Given the description of an element on the screen output the (x, y) to click on. 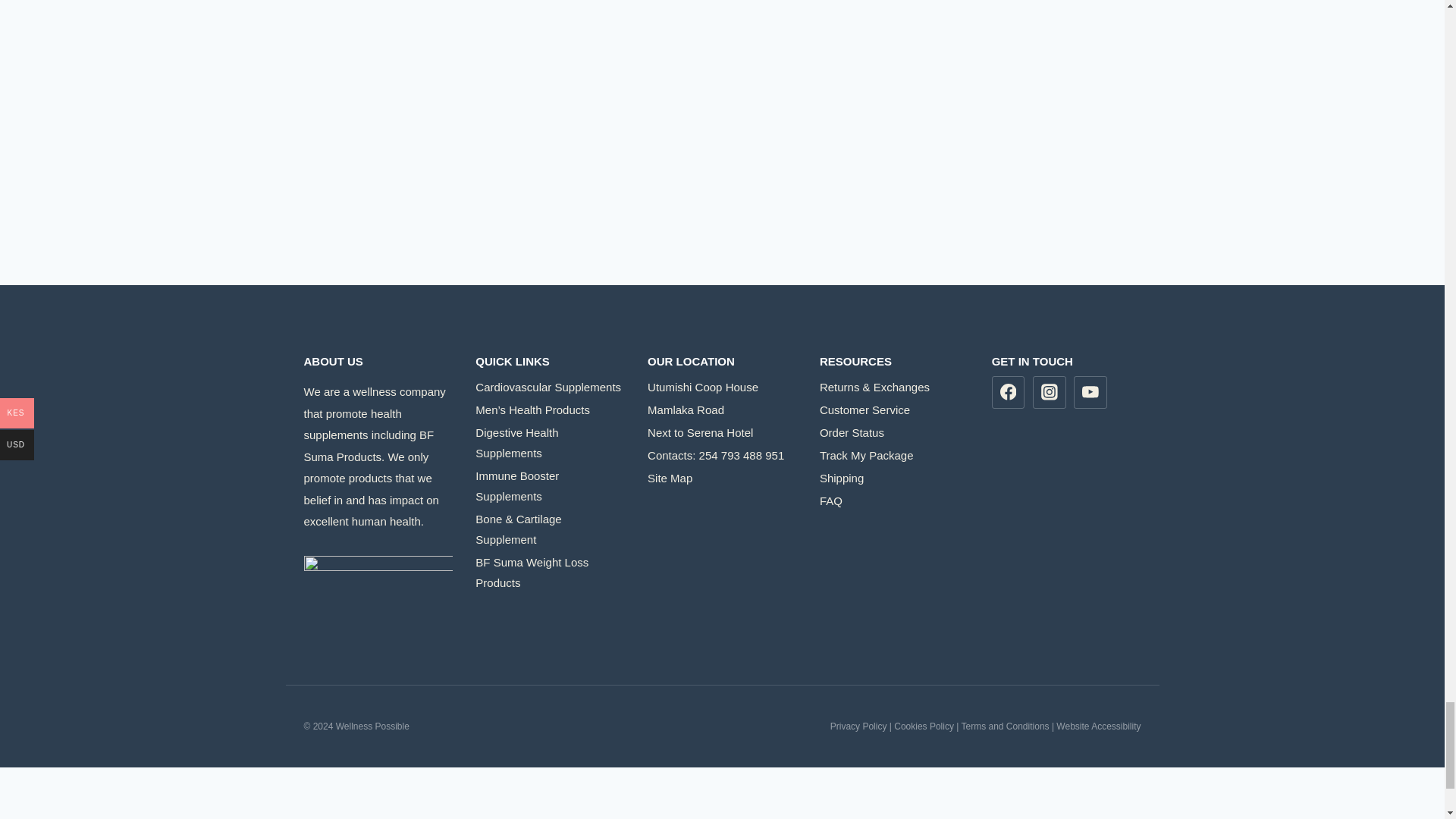
Cardiovascular Supplements (550, 386)
